Given the description of an element on the screen output the (x, y) to click on. 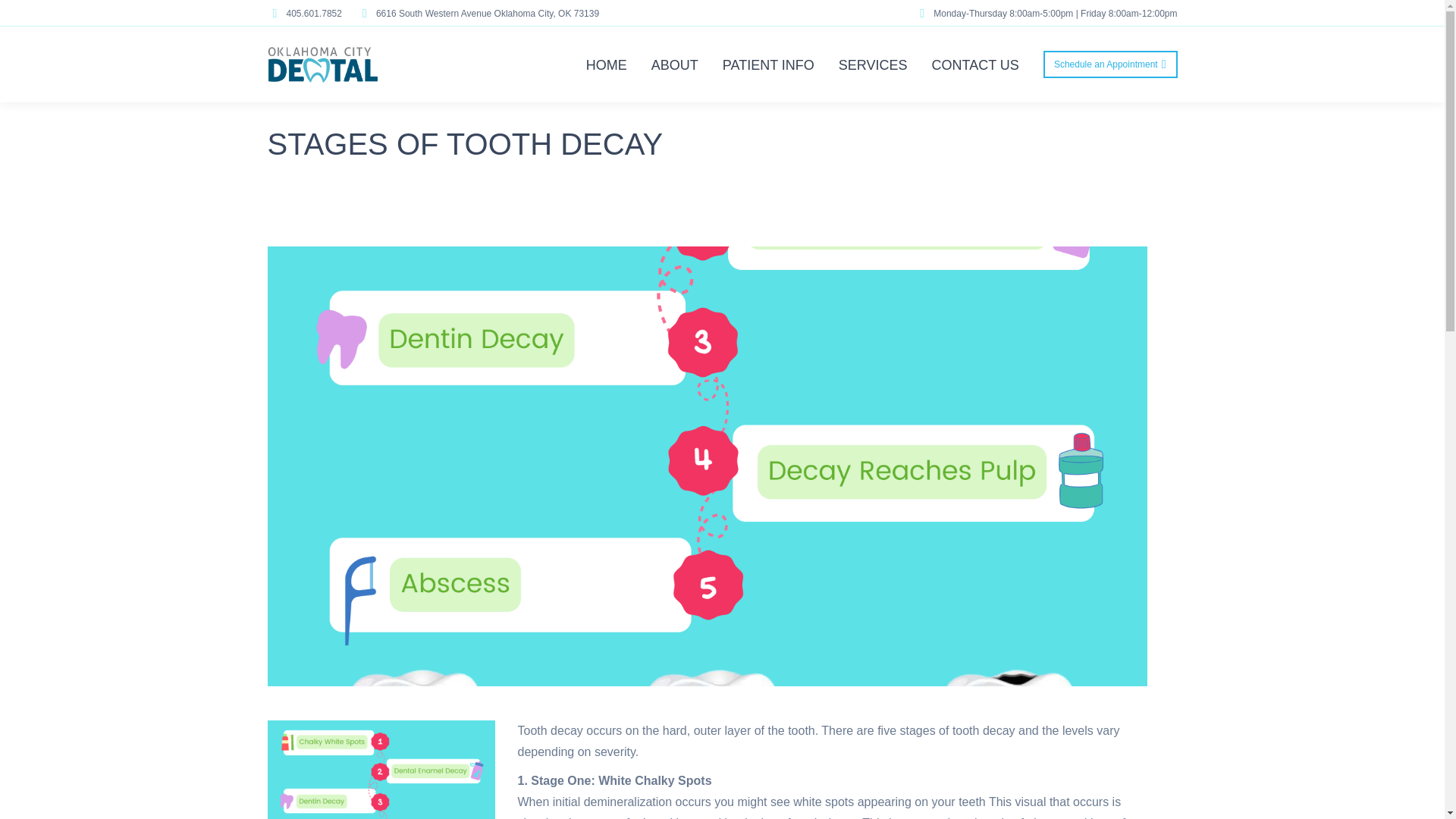
CONTACT US (975, 63)
HOME (606, 63)
ABOUT (674, 63)
Schedule an Appointment (1110, 63)
405.601.7852 (303, 12)
6616 South Western Avenue Oklahoma City, OK 73139 (477, 12)
SERVICES (873, 63)
PATIENT INFO (768, 63)
Submit (1038, 613)
